Given the description of an element on the screen output the (x, y) to click on. 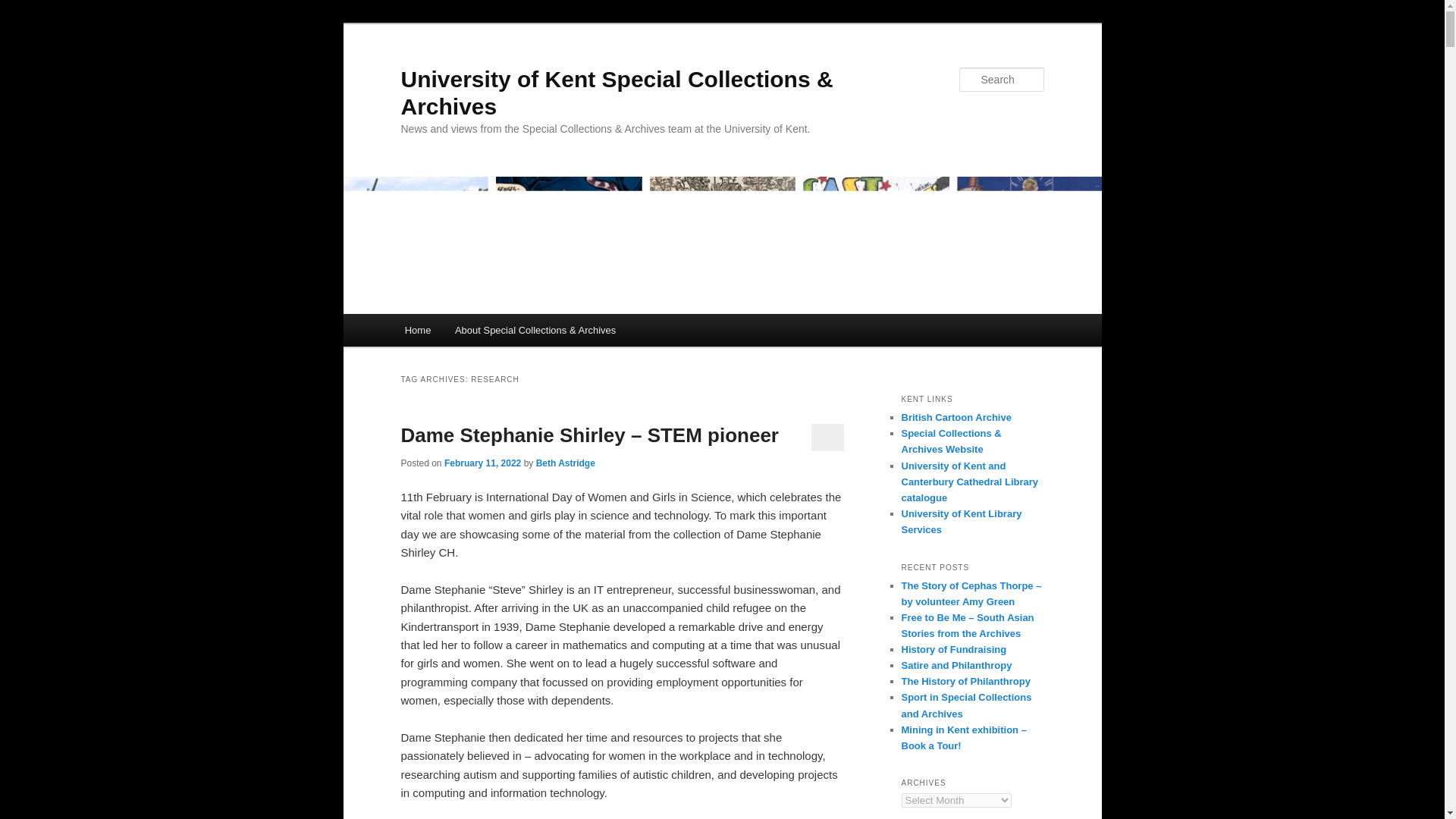
Home (417, 329)
Search (24, 8)
View all posts by Beth Astridge (565, 462)
February 11, 2022 (482, 462)
Beth Astridge (565, 462)
9:07 am (482, 462)
